Given the description of an element on the screen output the (x, y) to click on. 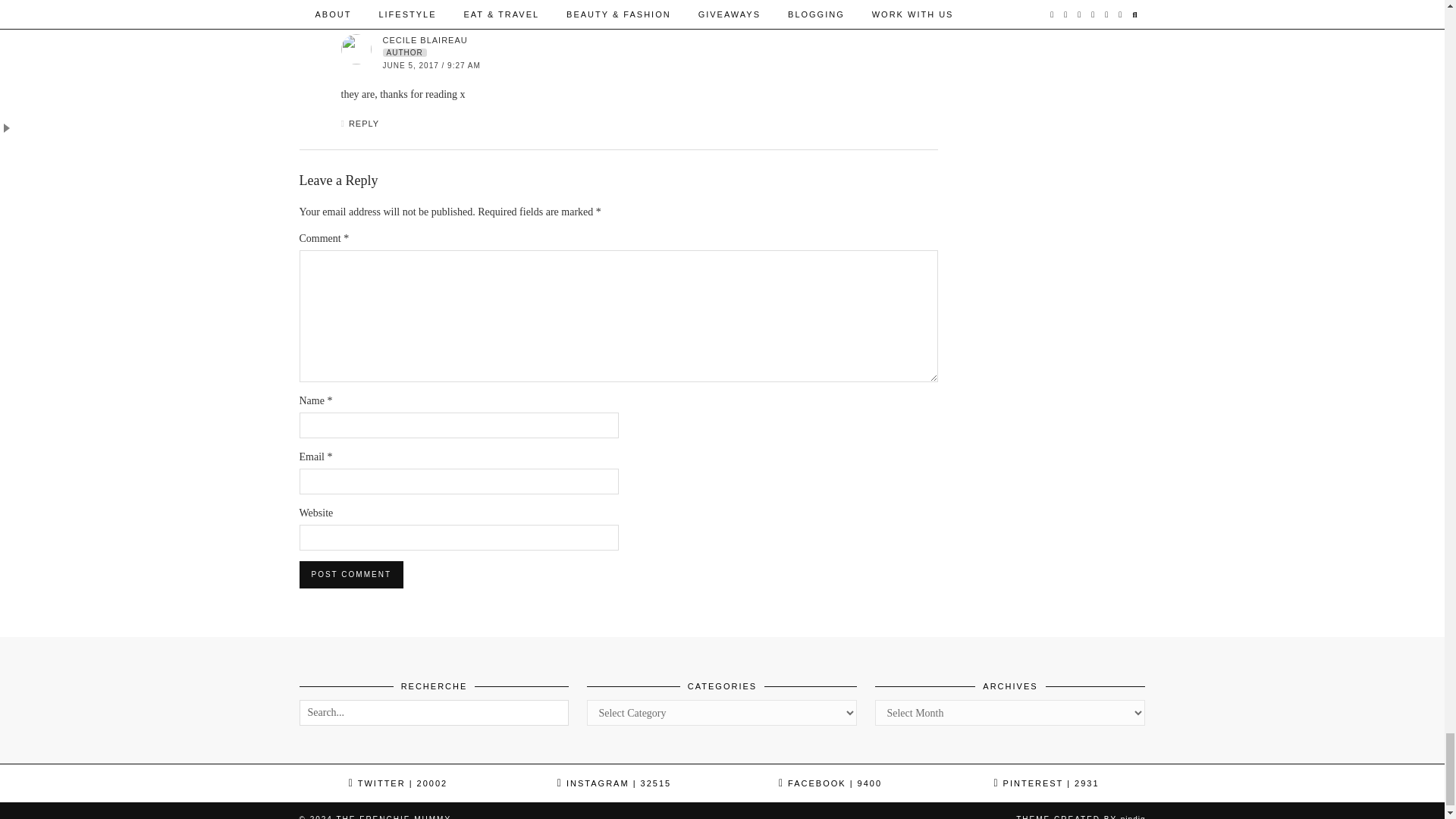
Post Comment (350, 574)
